Given the description of an element on the screen output the (x, y) to click on. 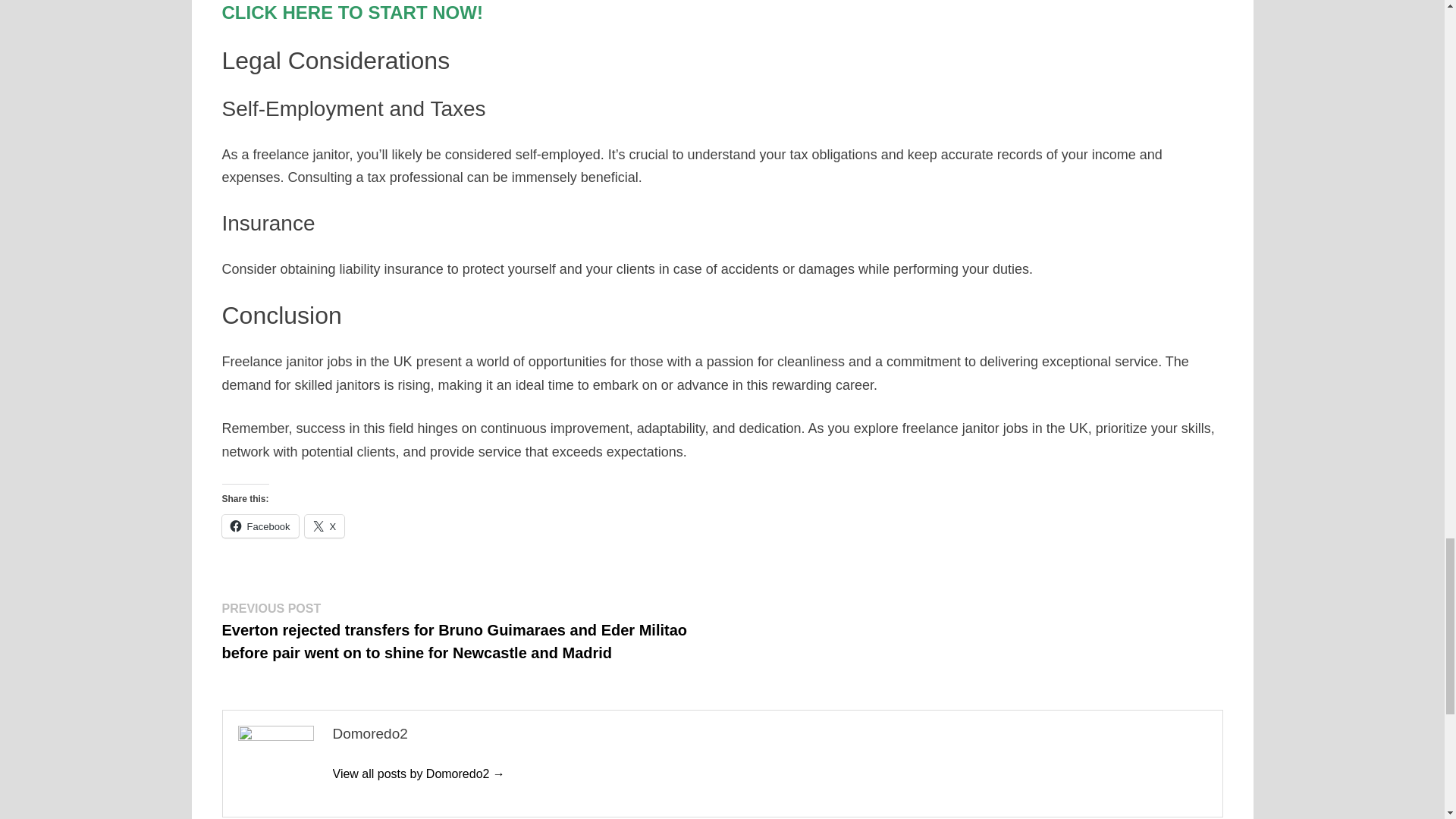
Click to share on X (324, 526)
X (324, 526)
CLICK HERE TO START NOW! (351, 12)
Click to share on Facebook (259, 526)
Facebook (259, 526)
Domoredo2 (417, 773)
